Given the description of an element on the screen output the (x, y) to click on. 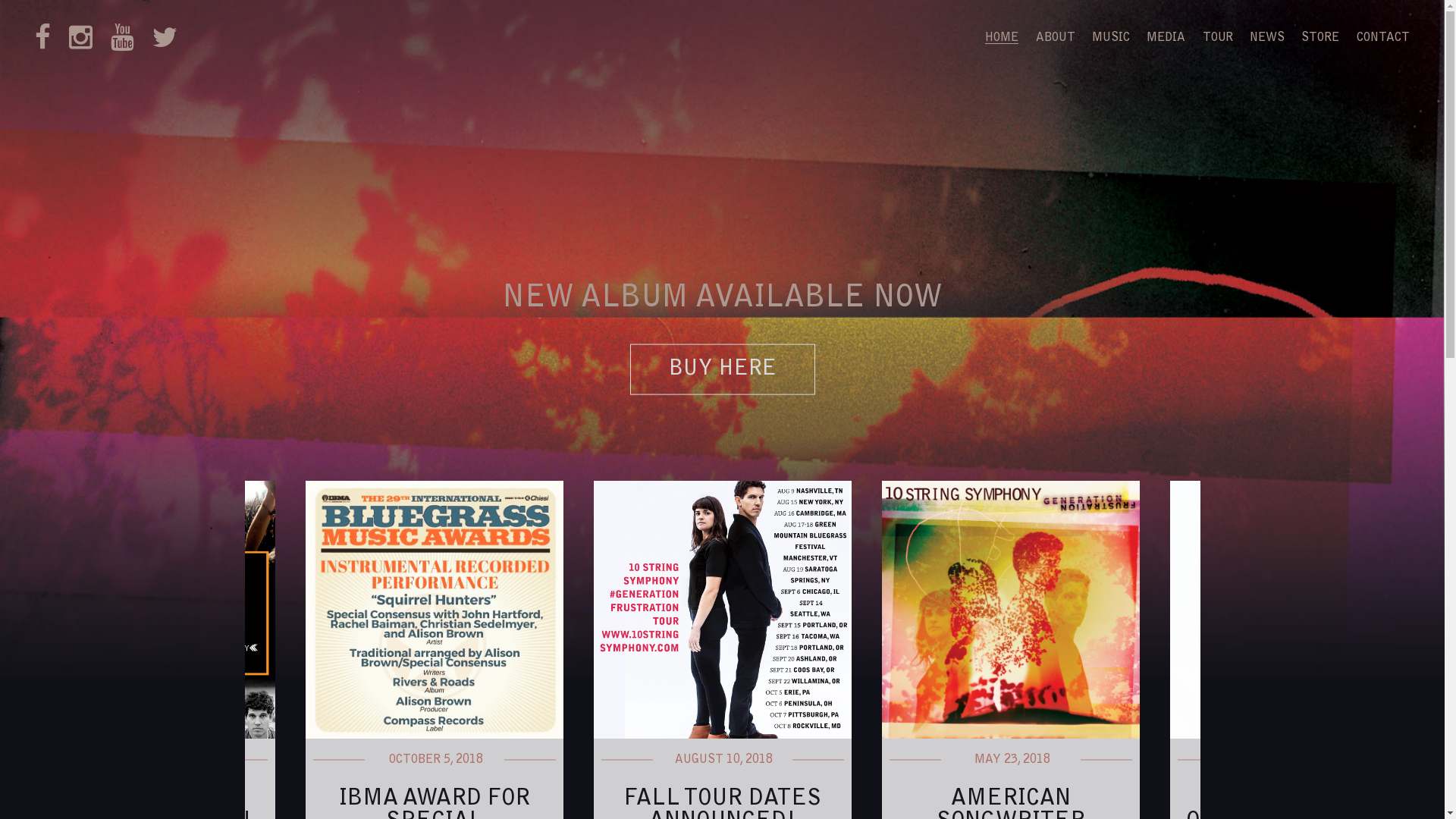
Subscribe Element type: text (721, 132)
MEDIA Element type: text (1165, 37)
TOUR Element type: text (1217, 37)
ABOUT Element type: text (1055, 37)
HOME Element type: text (1001, 37)
NEWS Element type: text (1266, 37)
STORE Element type: text (1320, 37)
MUSIC Element type: text (1110, 37)
BUY HERE Element type: text (721, 369)
CONTACT Element type: text (1382, 37)
